Given the description of an element on the screen output the (x, y) to click on. 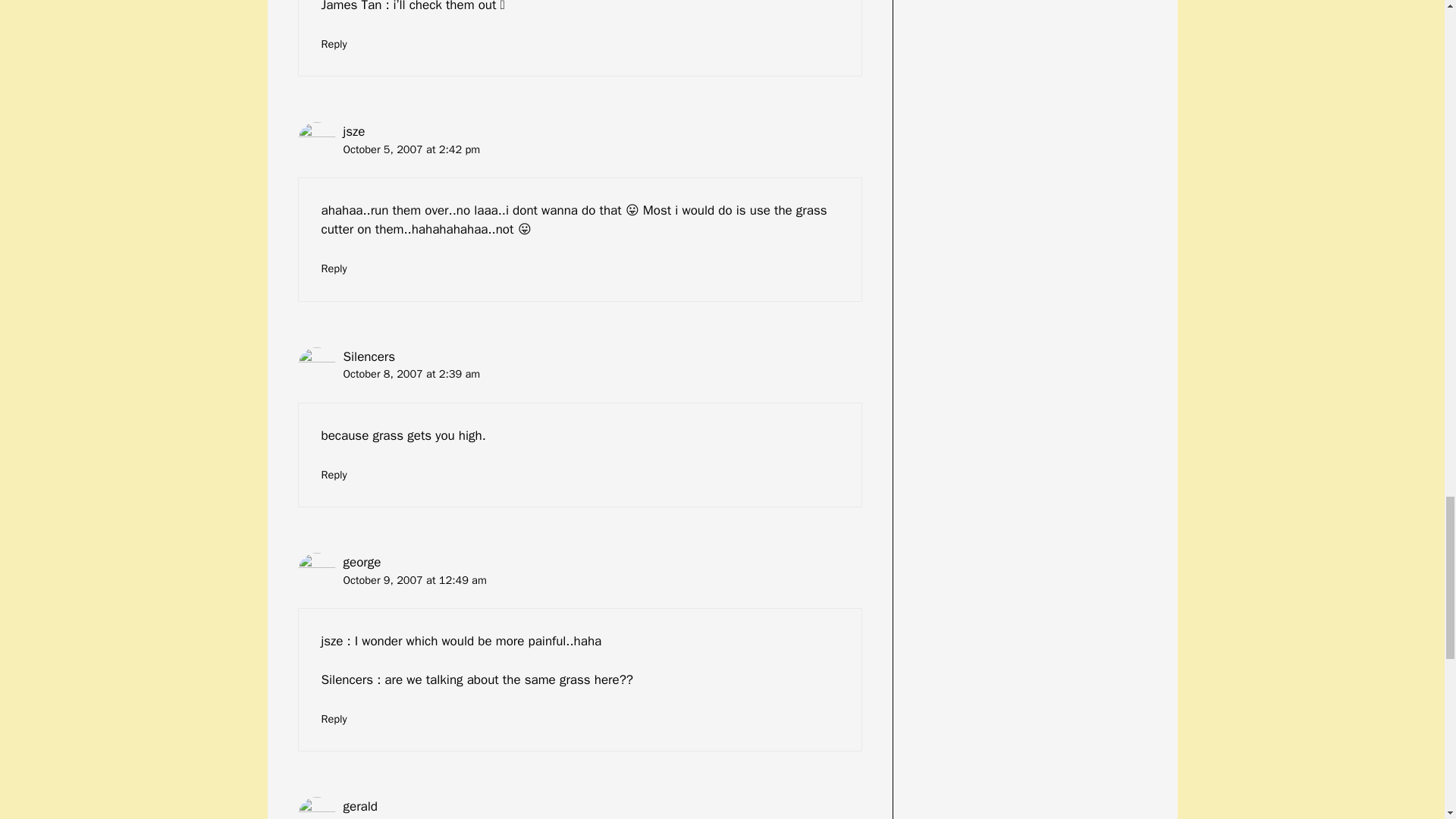
Reply (334, 268)
October 8, 2007 at 2:39 am (411, 373)
Silencers (368, 356)
Reply (334, 474)
October 5, 2007 at 2:42 pm (411, 149)
jsze (353, 131)
Reply (334, 43)
